Given the description of an element on the screen output the (x, y) to click on. 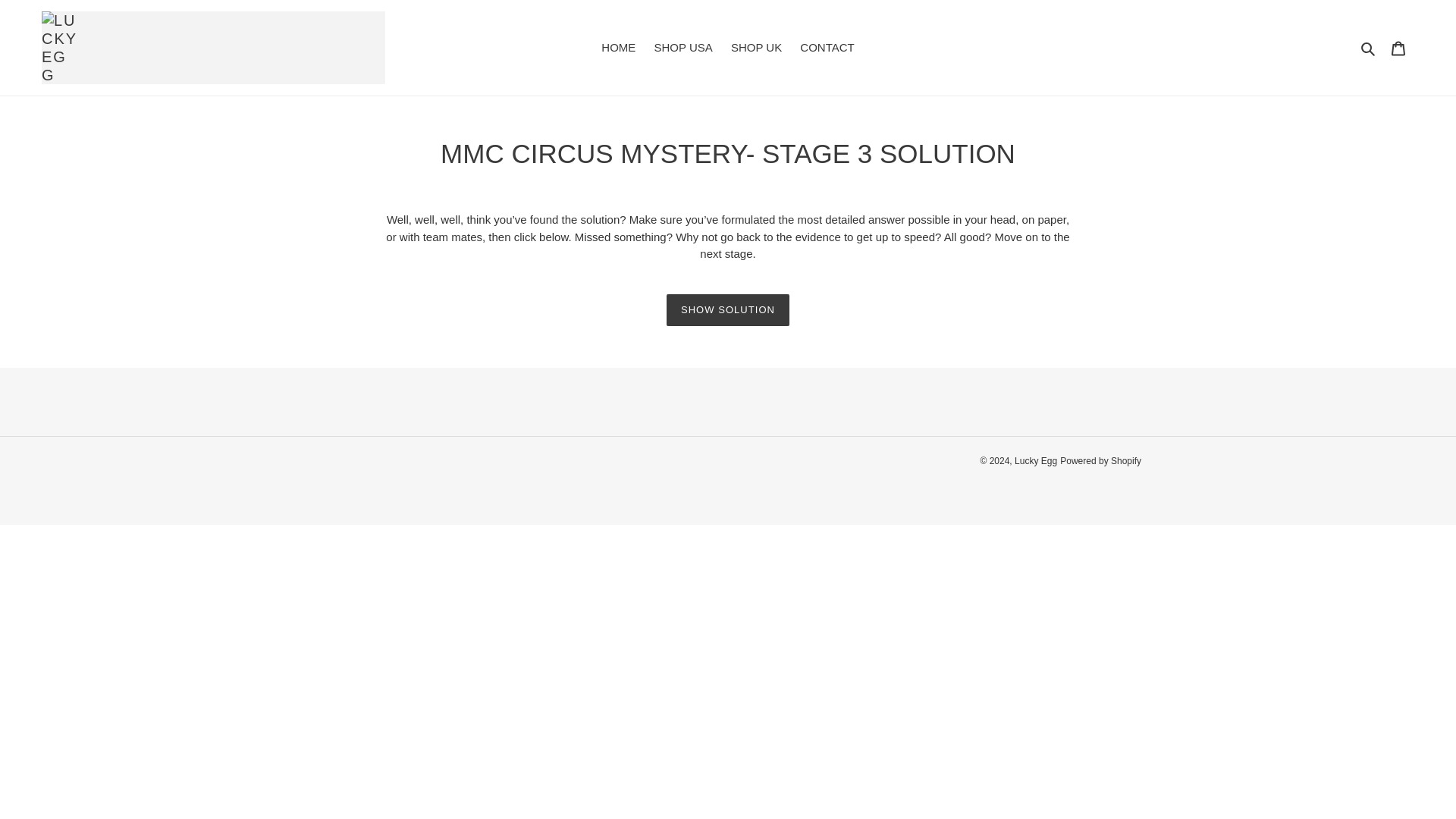
CONTACT (826, 47)
Powered by Shopify (1100, 460)
SHOP UK (756, 47)
SHOP USA (682, 47)
Cart (1397, 47)
SHOW SOLUTION (727, 309)
HOME (618, 47)
Lucky Egg (1035, 460)
Search (1368, 47)
